Given the description of an element on the screen output the (x, y) to click on. 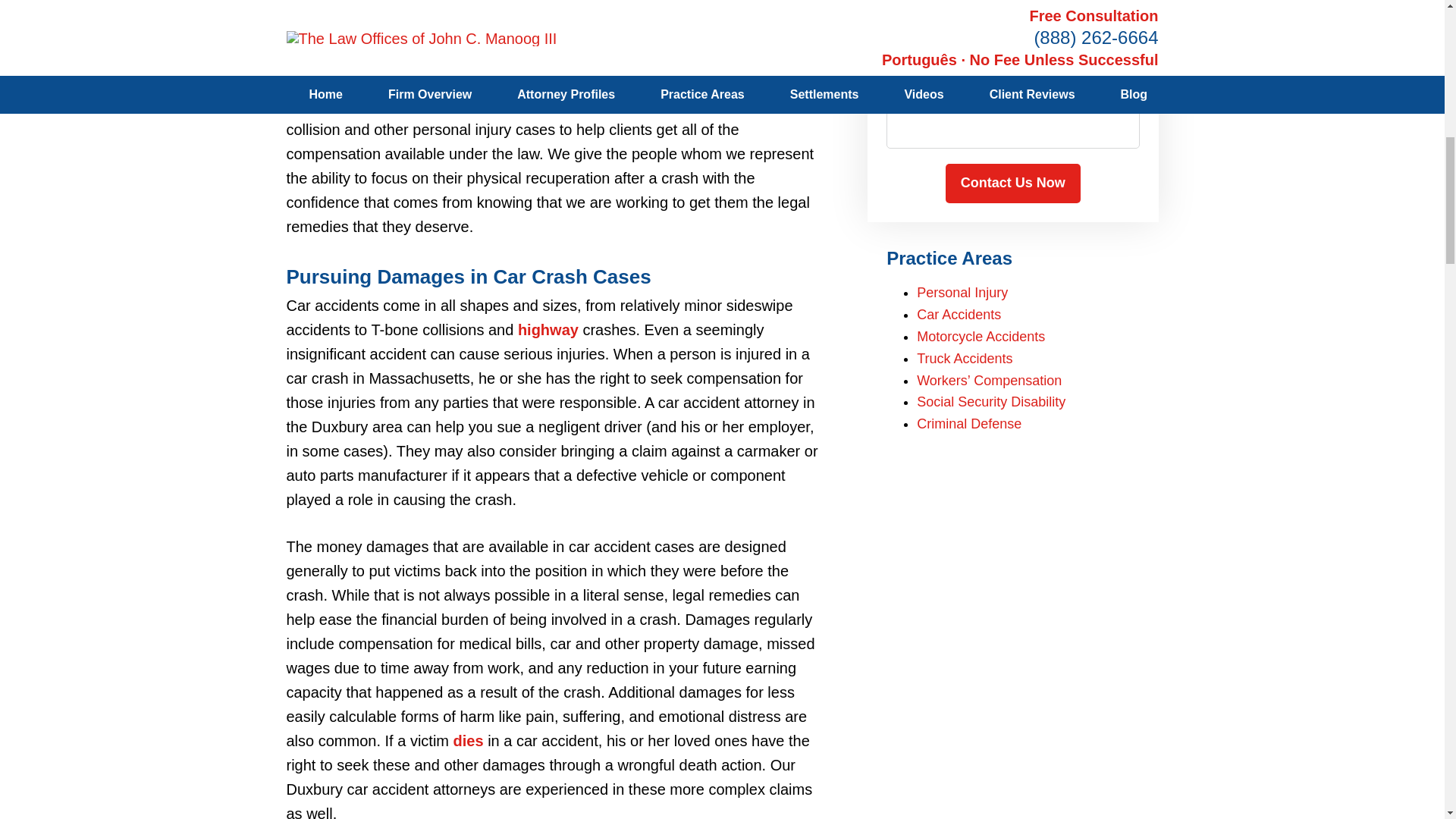
dies (467, 740)
highway (548, 329)
Criminal Defense (969, 423)
Car Accidents (959, 314)
Personal Injury (962, 292)
Practice Areas (948, 258)
Truck Accidents (964, 358)
Social Security Disability (991, 401)
Contact Us Now (1012, 183)
Motorcycle Accidents (981, 336)
